Given the description of an element on the screen output the (x, y) to click on. 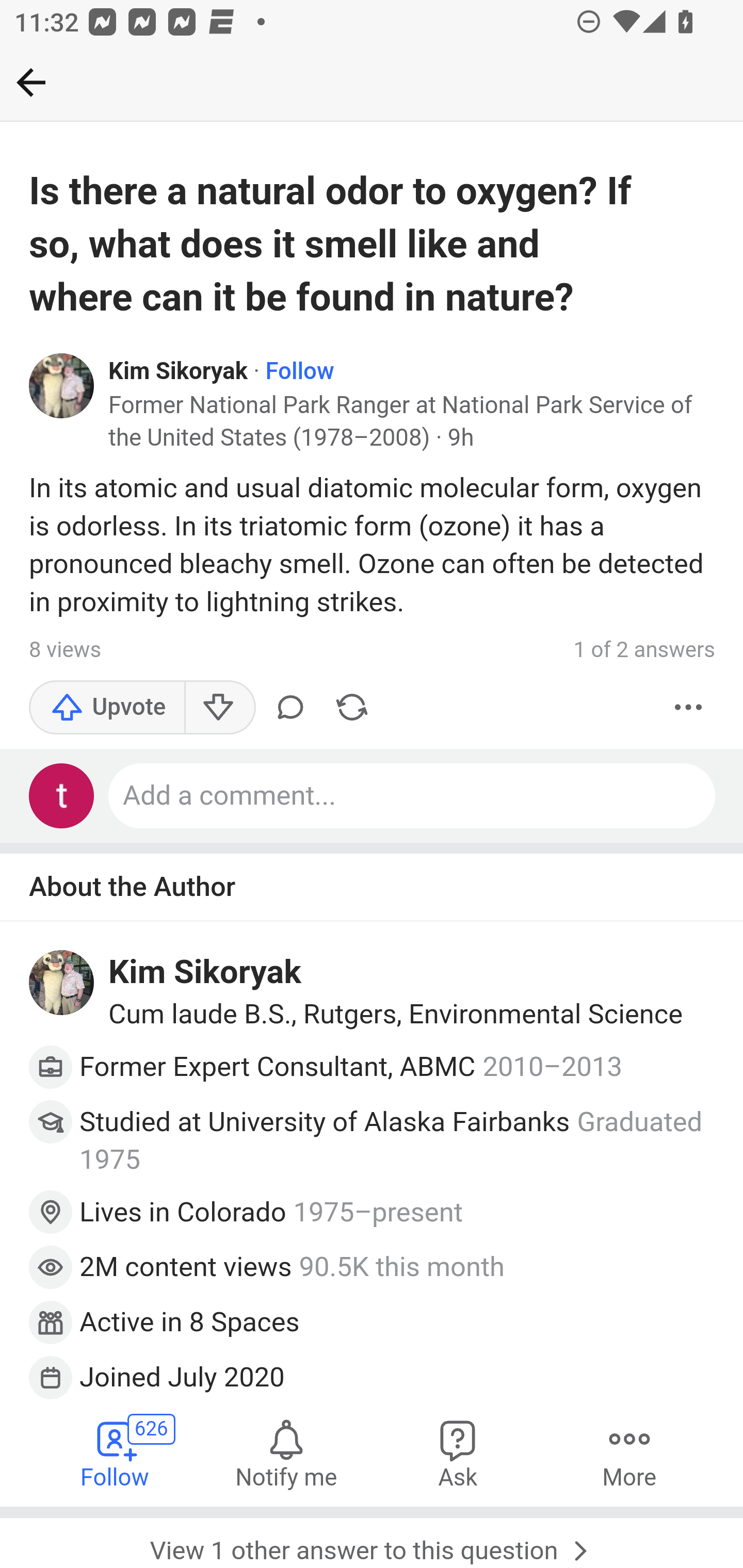
Back (30, 82)
Profile photo for Kim Sikoryak (61, 385)
Kim Sikoryak (178, 371)
Follow (299, 371)
1 of 2 answers (644, 649)
Upvote (106, 706)
Downvote (219, 706)
Comment (290, 706)
Share (351, 706)
More (688, 706)
Profile photo for Test Appium (61, 795)
Add a comment... (412, 795)
Profile photo for Kim Sikoryak (61, 982)
Kim Sikoryak (204, 972)
Follow Kim Sikoryak 626 Follow (115, 1453)
Notify me (285, 1453)
Ask (458, 1453)
More (628, 1453)
View 1 other answer to this question (371, 1537)
